Given the description of an element on the screen output the (x, y) to click on. 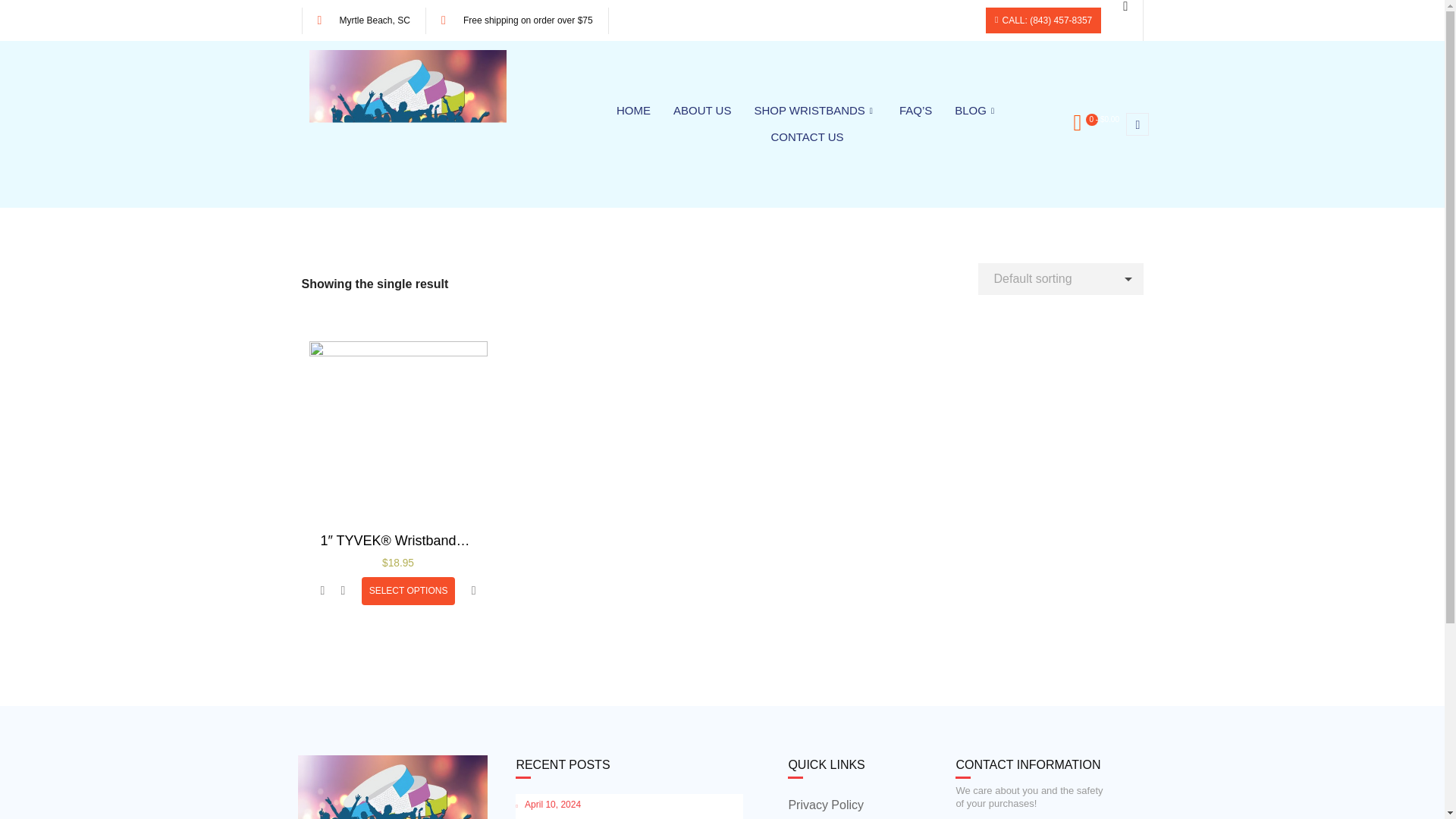
ABOUT US (702, 110)
CONTACT US (806, 137)
BLOG (976, 110)
SHOP WRISTBANDS (814, 110)
HOME (633, 110)
